Given the description of an element on the screen output the (x, y) to click on. 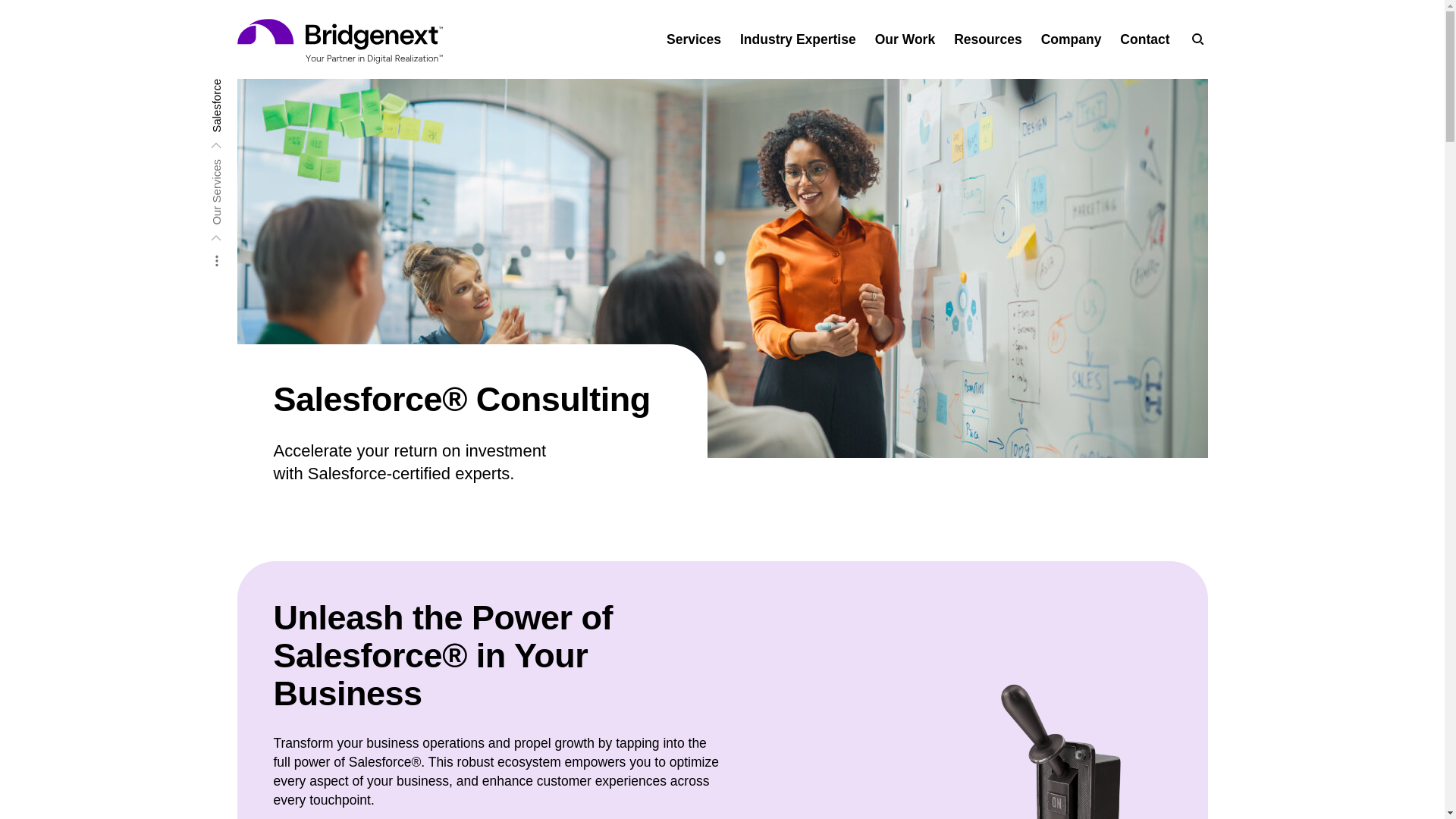
Industry Expertise (797, 39)
Services (693, 39)
Salesforce (236, 84)
Bridgenext (338, 40)
